Given the description of an element on the screen output the (x, y) to click on. 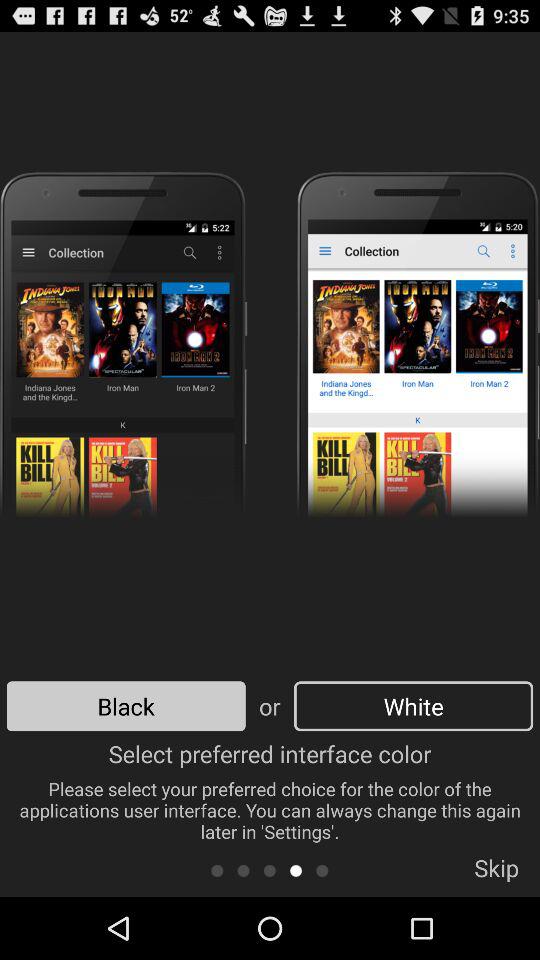
press skip (496, 873)
